Given the description of an element on the screen output the (x, y) to click on. 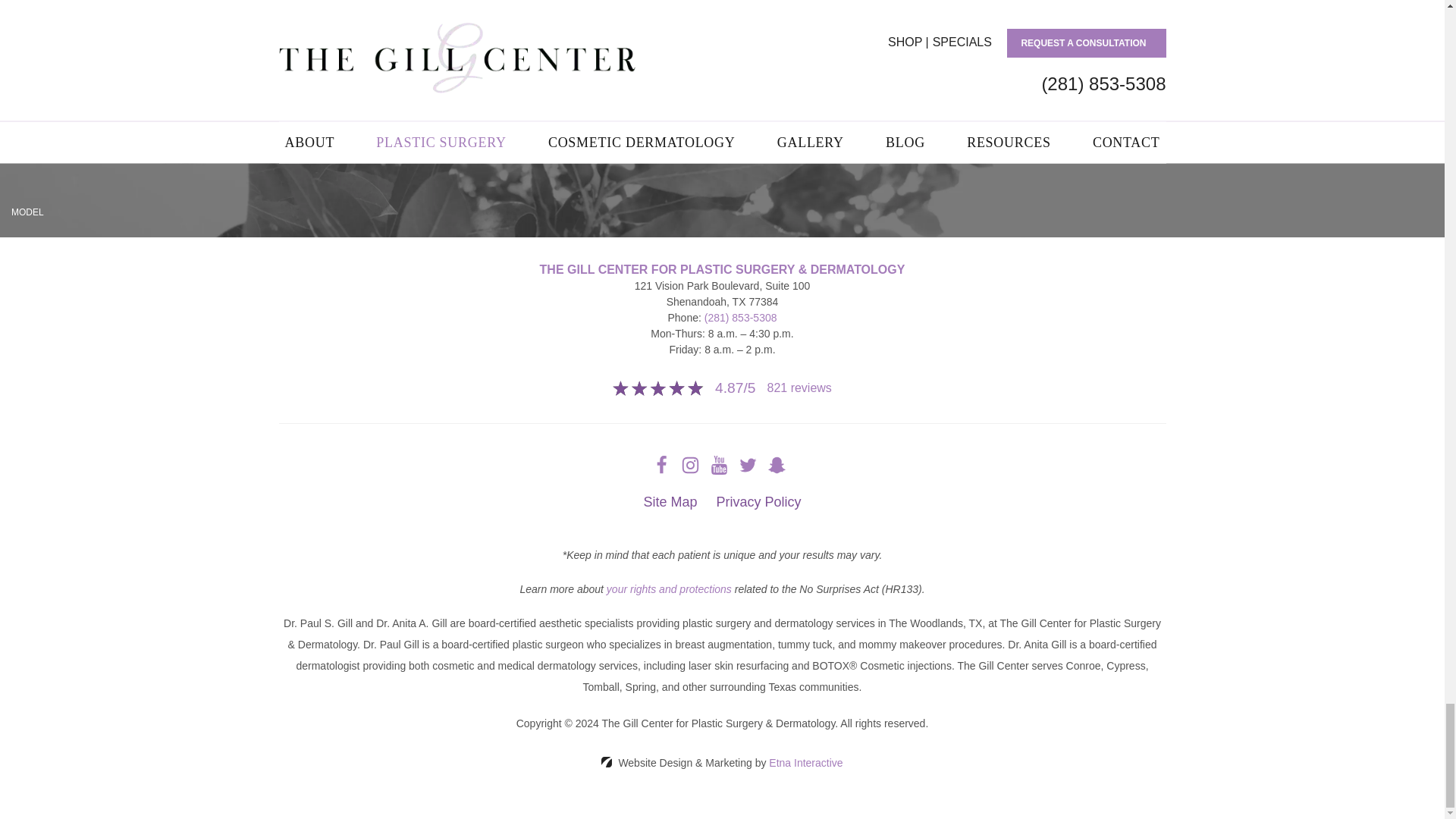
checked (284, 53)
checked (284, 30)
